Given the description of an element on the screen output the (x, y) to click on. 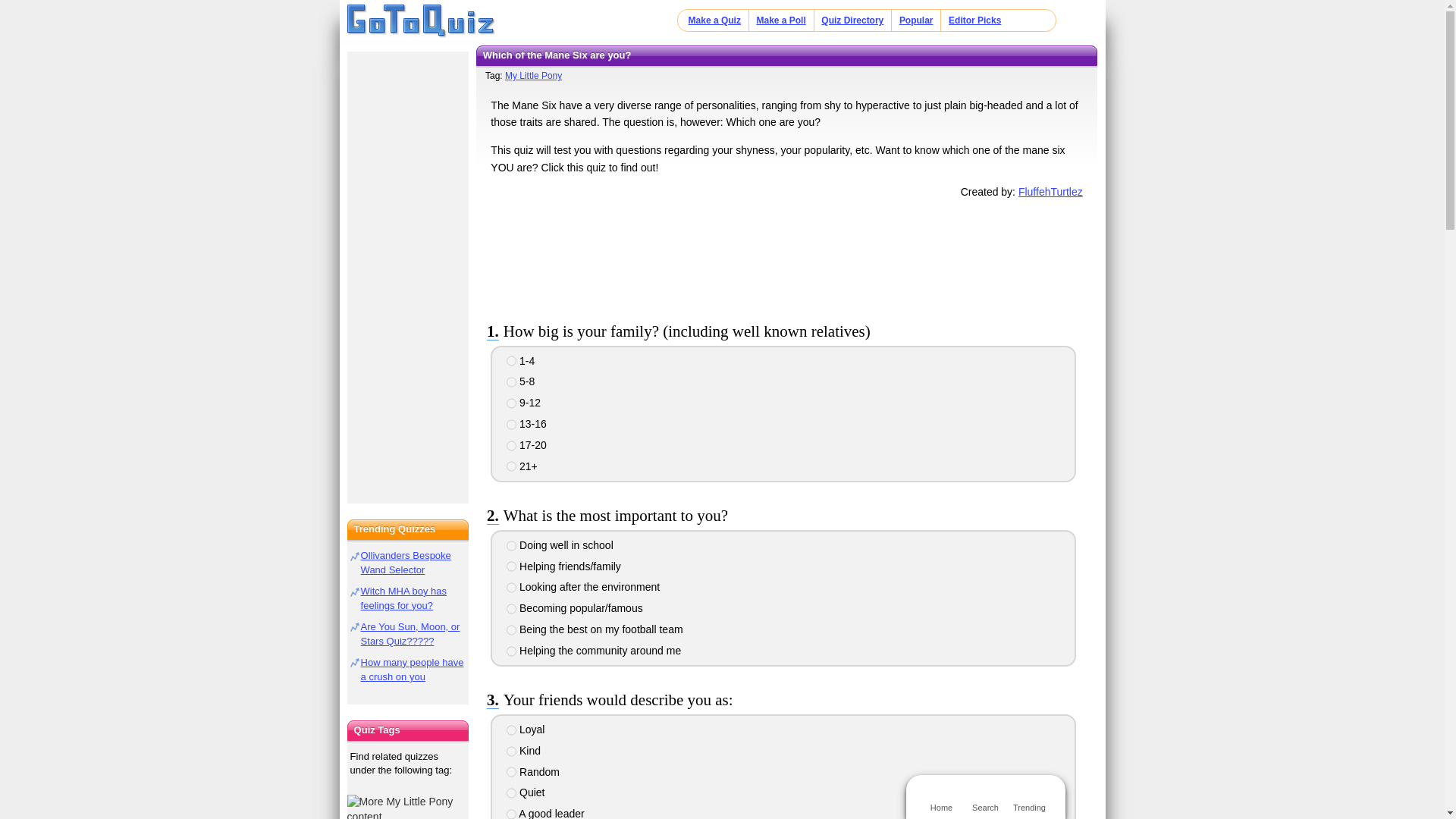
4 (511, 792)
5 (511, 629)
5 (511, 445)
2 (511, 751)
Make a Quiz (714, 20)
2 (511, 566)
3 (511, 587)
Trending (1029, 796)
Witch MHA boy has feelings for you? (403, 597)
My Little Pony (407, 806)
